Given the description of an element on the screen output the (x, y) to click on. 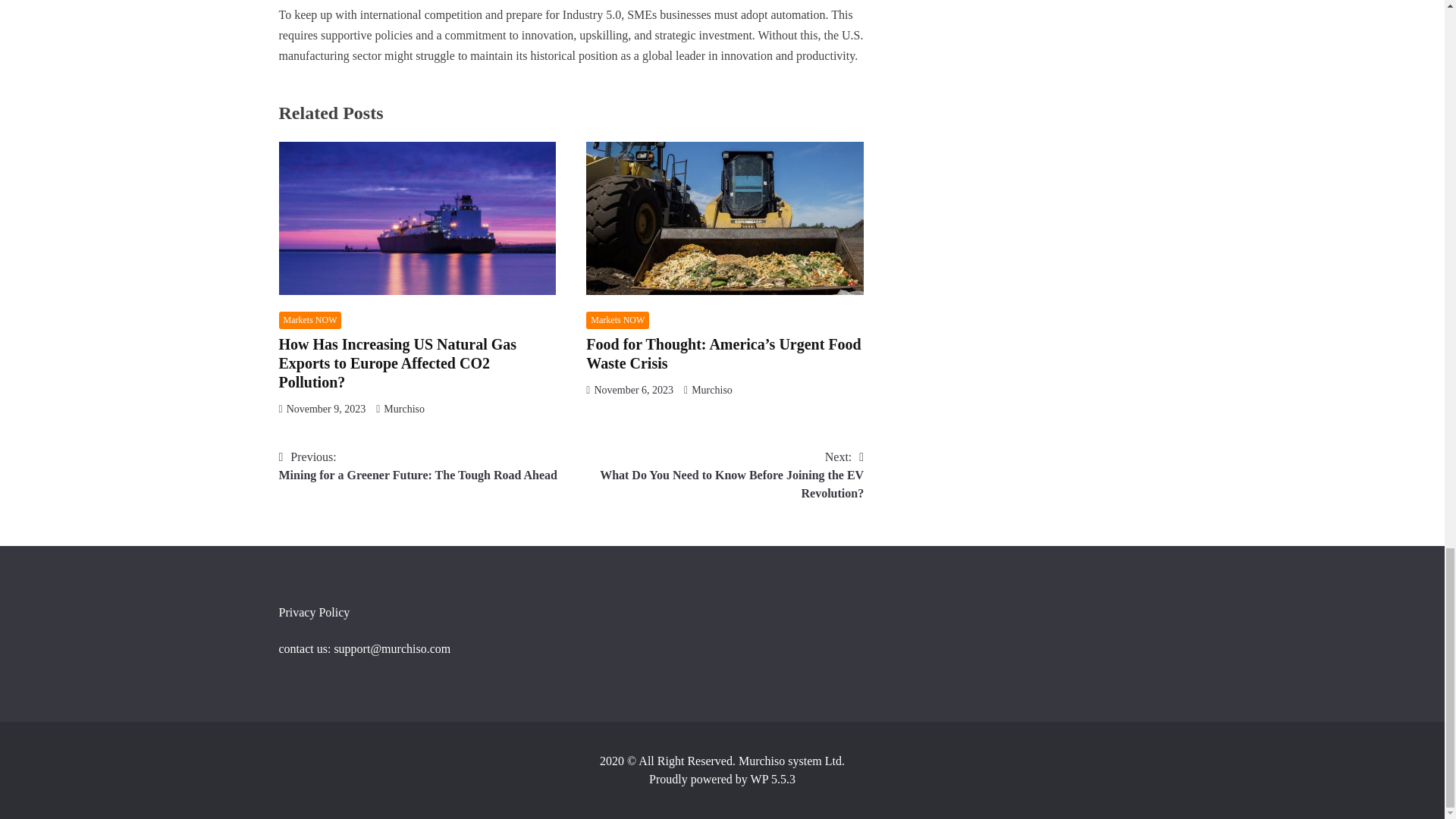
Murchiso (418, 465)
November 9, 2023 (404, 408)
Markets NOW (326, 408)
Murchiso (617, 320)
November 6, 2023 (711, 389)
Markets NOW (633, 389)
Privacy Policy (310, 320)
